Given the description of an element on the screen output the (x, y) to click on. 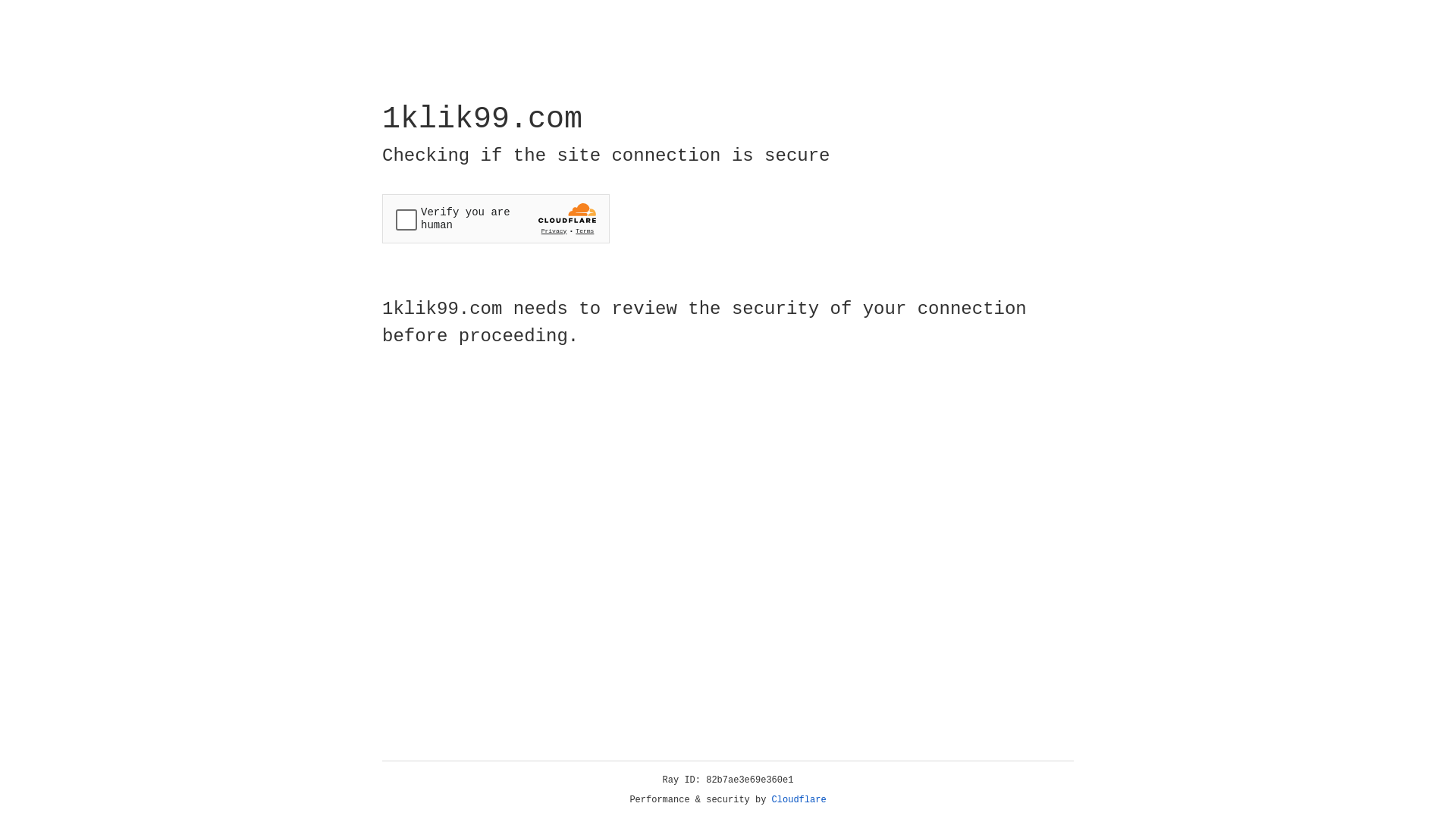
Widget containing a Cloudflare security challenge Element type: hover (495, 218)
Cloudflare Element type: text (798, 799)
